Given the description of an element on the screen output the (x, y) to click on. 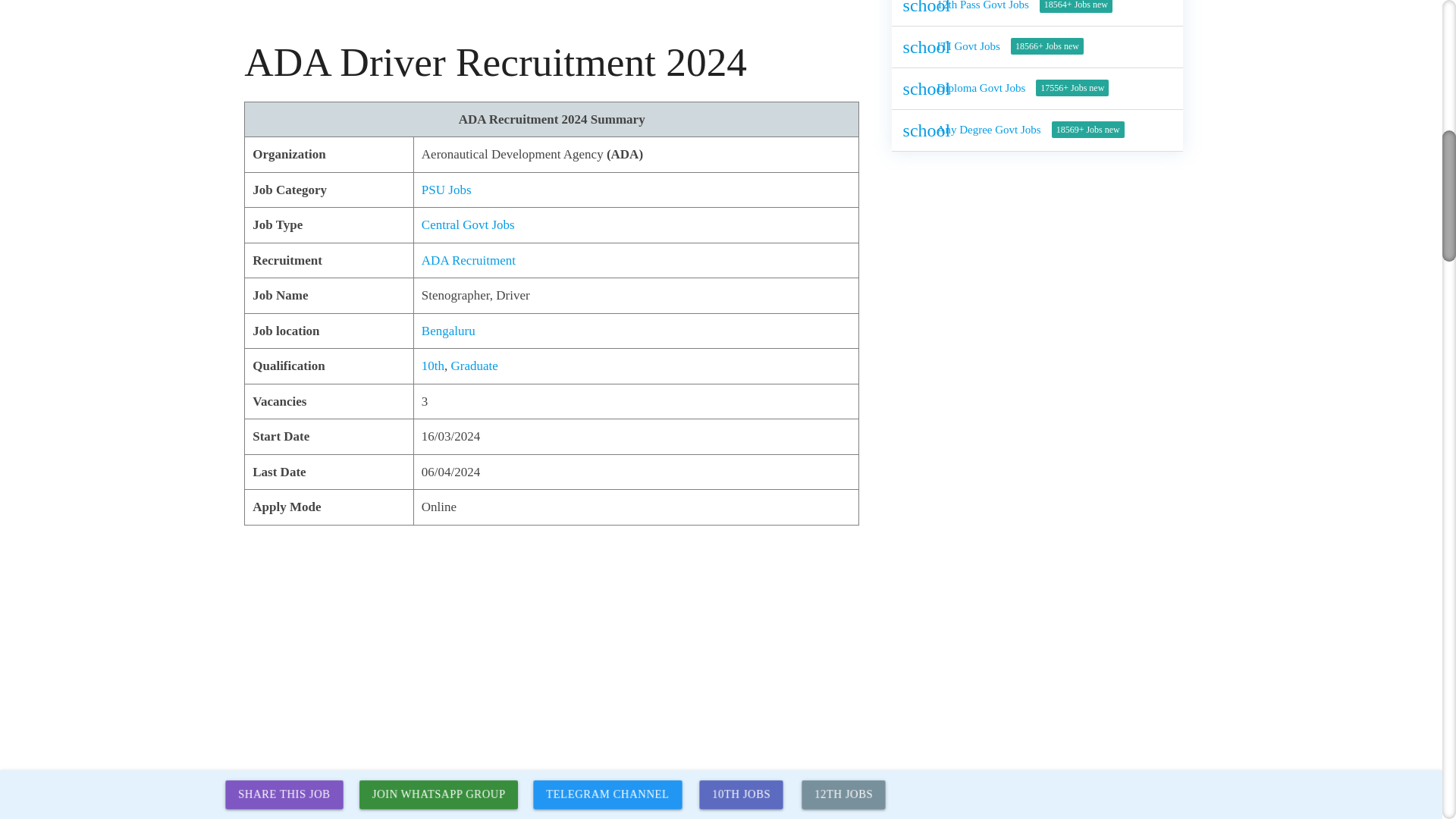
Central Govt Jobs (468, 224)
10th (433, 365)
PSU Jobs (446, 188)
Bengaluru (449, 329)
ADA Recruitment (468, 260)
Graduate (474, 365)
